Given the description of an element on the screen output the (x, y) to click on. 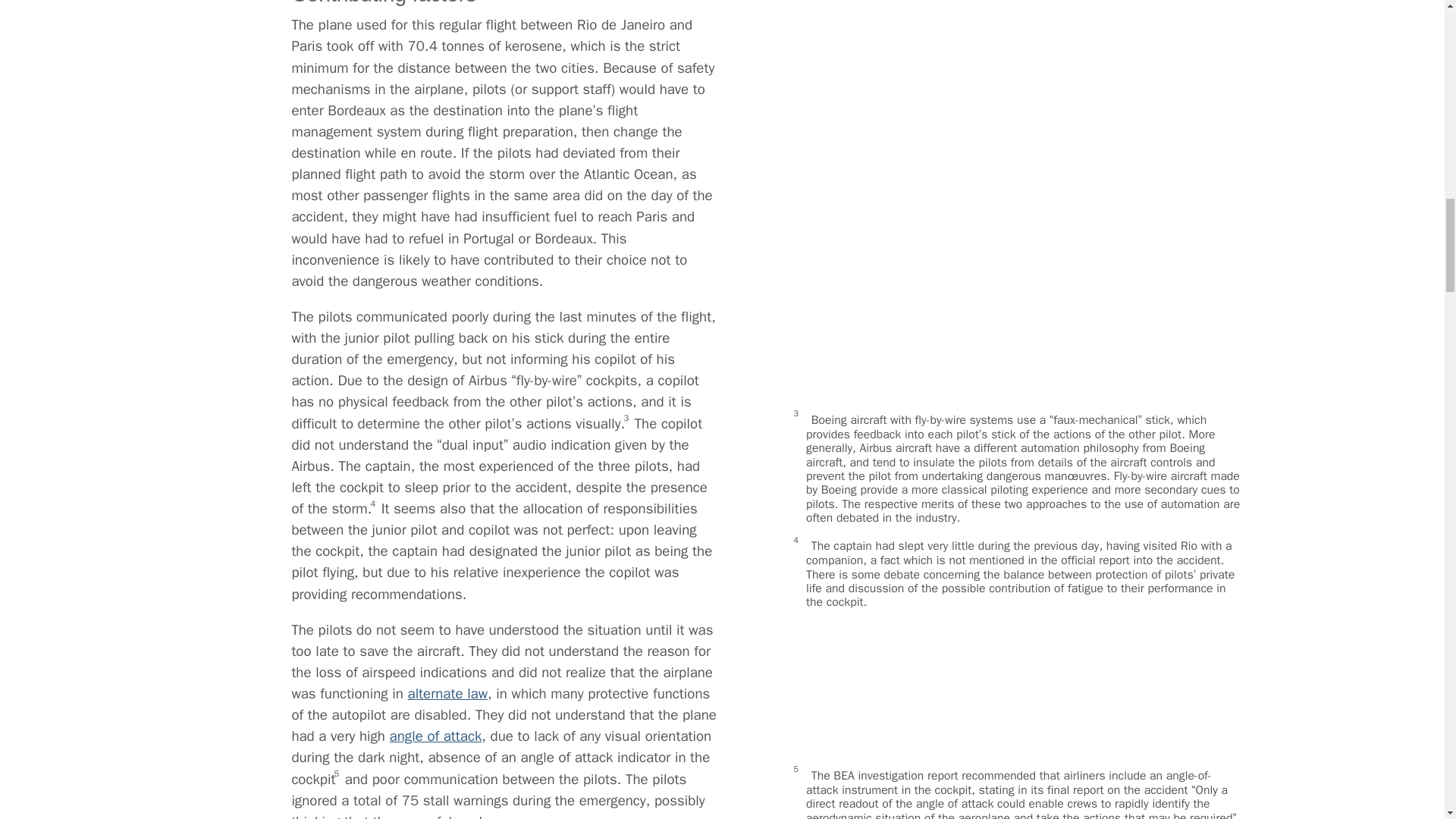
alternate law (447, 693)
angle of attack (435, 736)
